Given the description of an element on the screen output the (x, y) to click on. 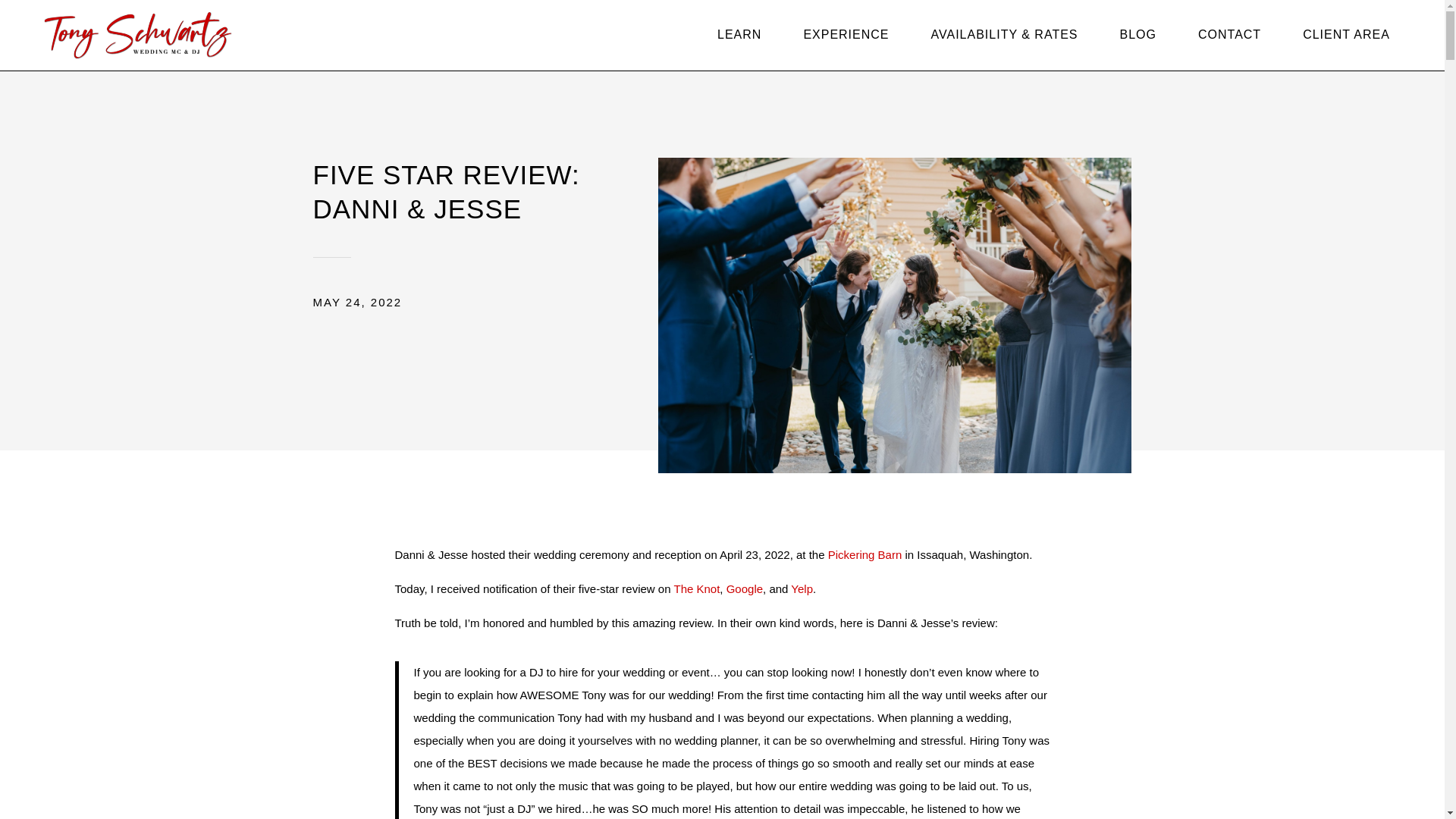
BLOG (1137, 34)
Yelp (801, 588)
EXPERIENCE (845, 34)
CLIENT AREA (1345, 34)
Google (744, 588)
The Knot (695, 588)
Pickering Barn (865, 554)
CONTACT (1229, 34)
LEARN (739, 34)
